Given the description of an element on the screen output the (x, y) to click on. 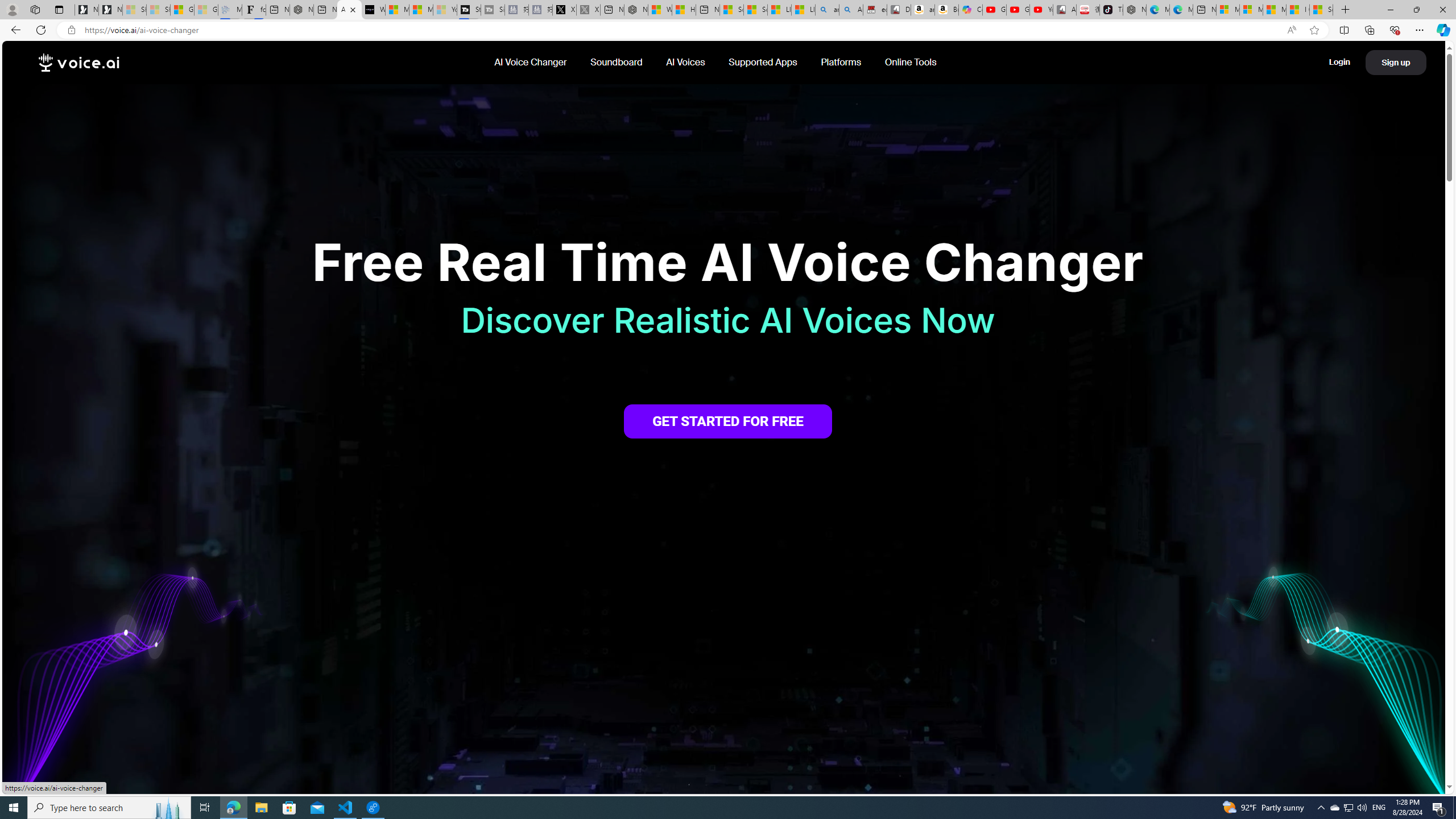
Nordace - My Account (635, 9)
